Given the description of an element on the screen output the (x, y) to click on. 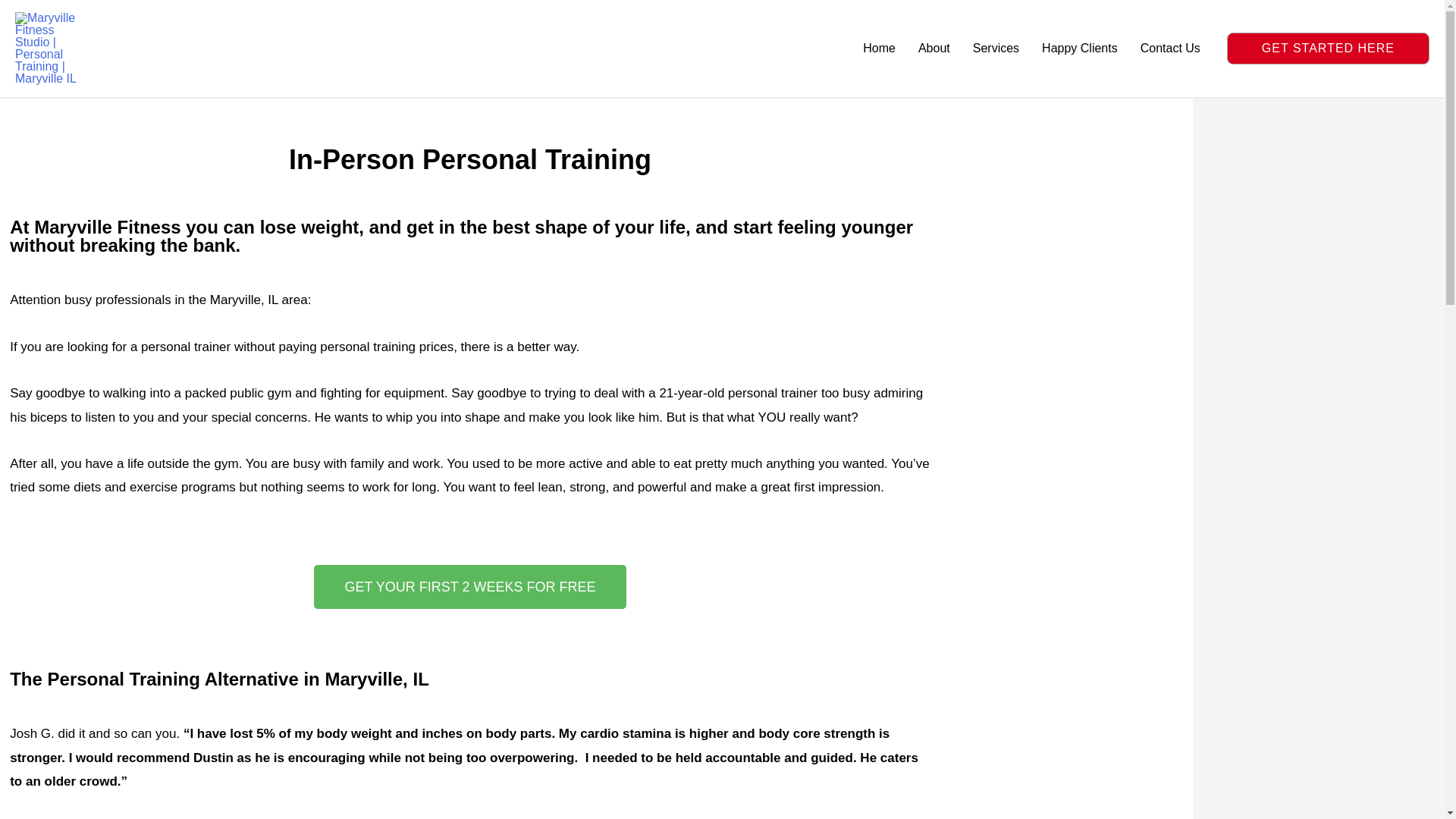
Contact Us (1170, 48)
Happy Clients (1079, 48)
About (933, 48)
Services (995, 48)
GET STARTED HERE (1328, 48)
Home (879, 48)
GET YOUR FIRST 2 WEEKS FOR FREE (470, 587)
